Given the description of an element on the screen output the (x, y) to click on. 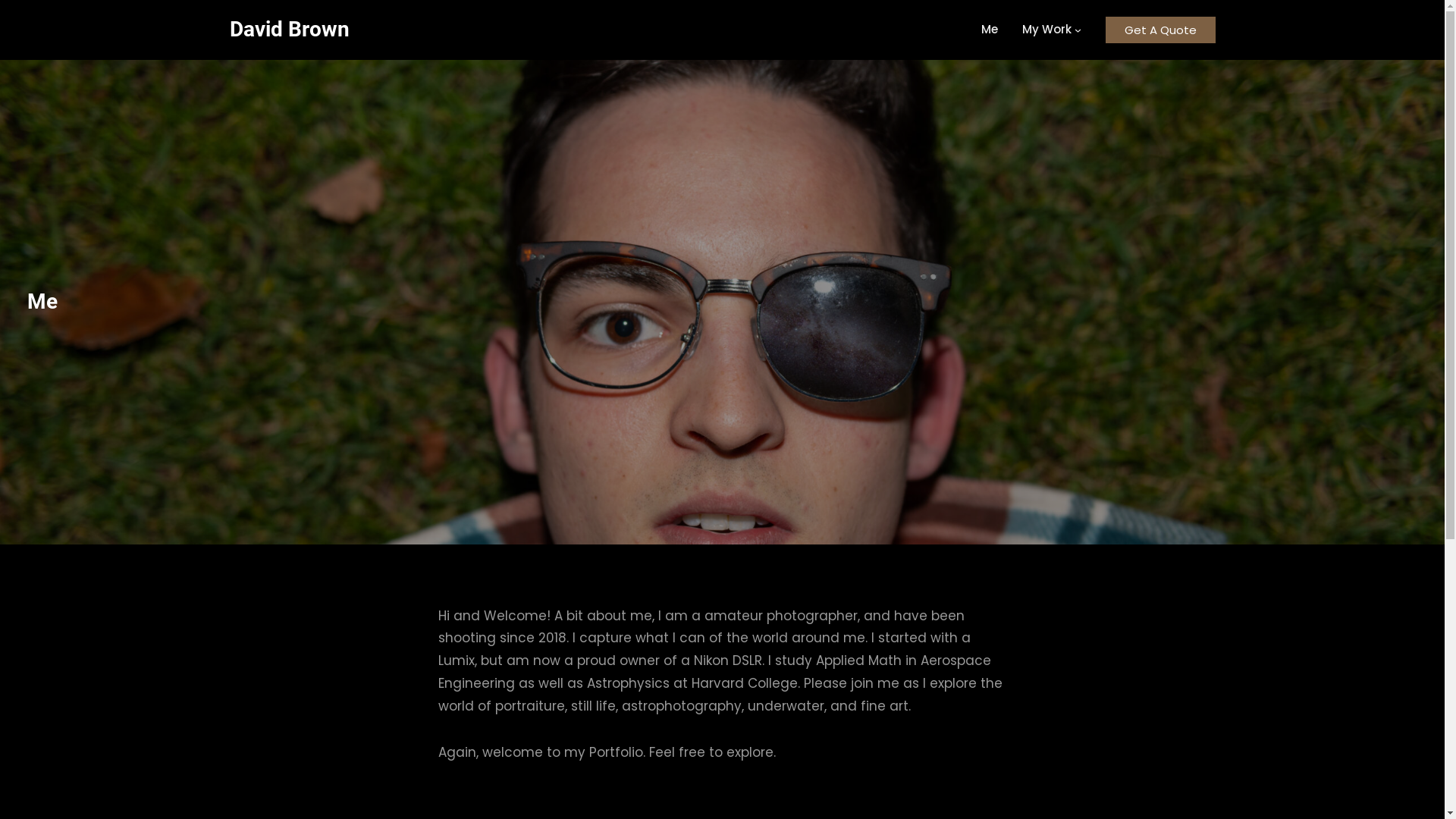
My Work Element type: text (1046, 29)
Get A Quote Element type: text (1160, 29)
David Brown Element type: text (288, 30)
Me Element type: text (989, 29)
